Given the description of an element on the screen output the (x, y) to click on. 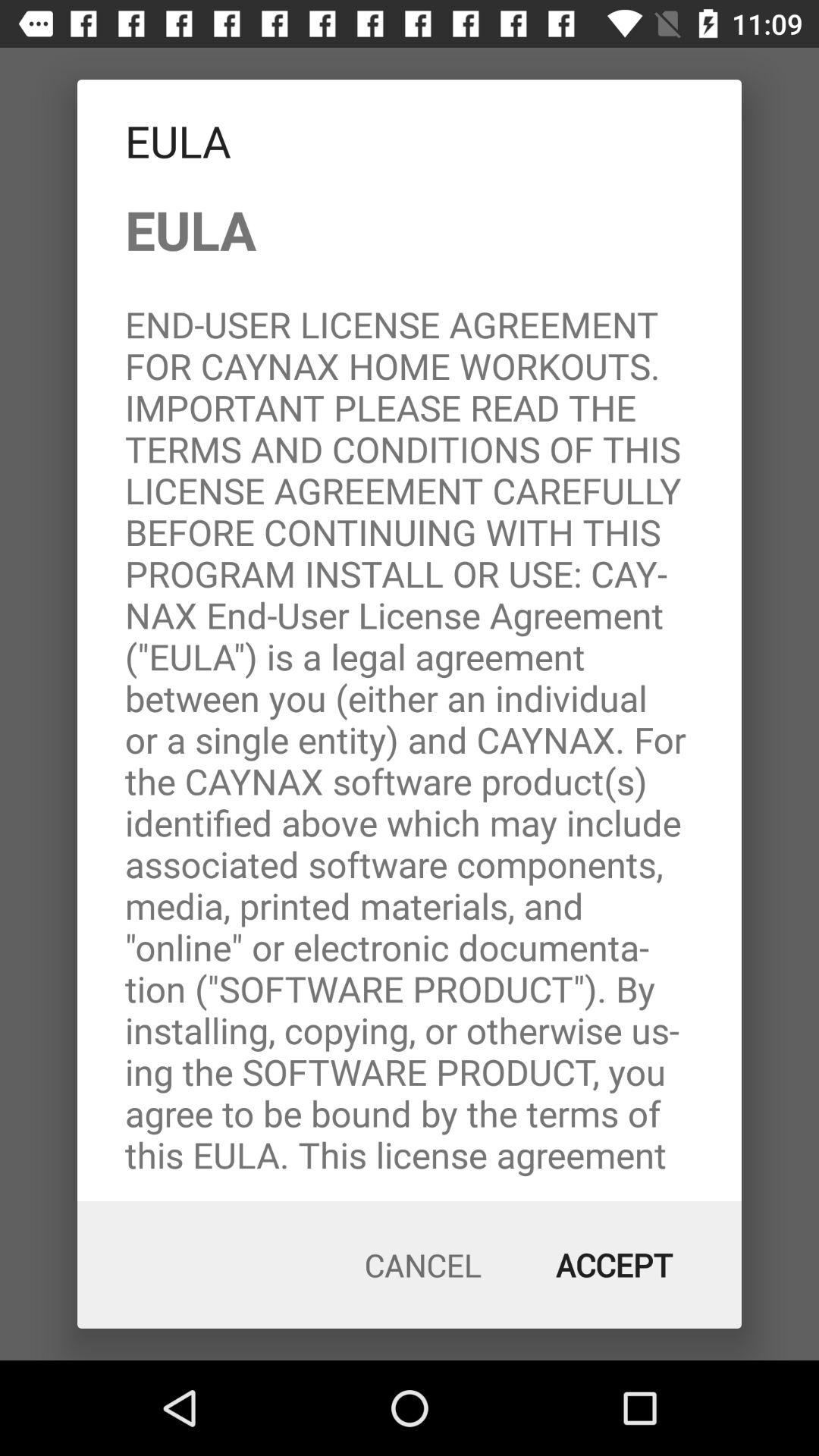
turn off the accept icon (613, 1264)
